Given the description of an element on the screen output the (x, y) to click on. 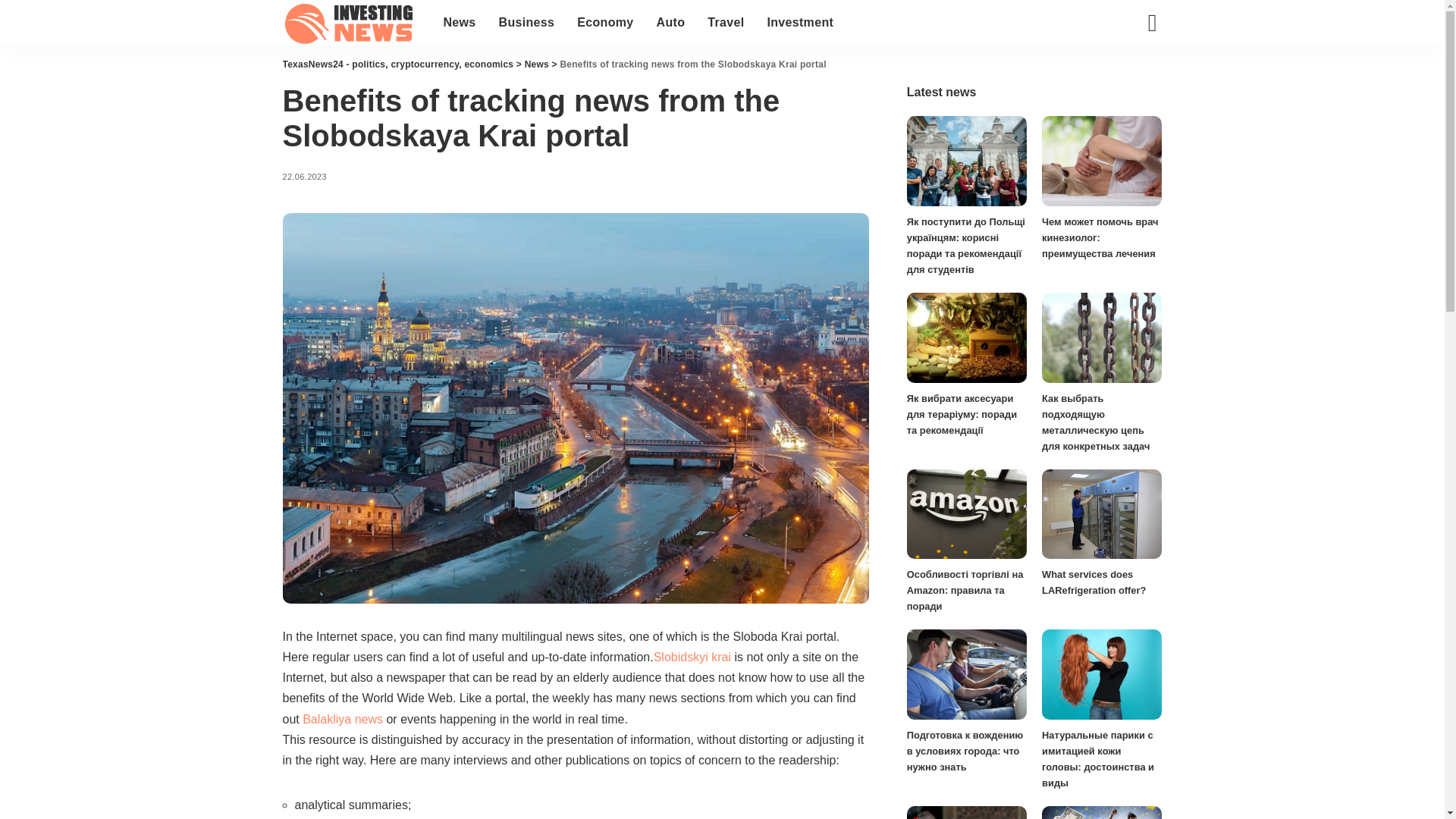
Go to TexasNews24 - politics, cryptocurrency, economics. (397, 63)
TexasNews24 - politics, cryptocurrency, economics (351, 22)
Economy (605, 22)
News (459, 22)
Investment (799, 22)
Balakliya news (342, 718)
Travel (725, 22)
Go to the News Category archives. (536, 63)
Slobidskyi krai (691, 656)
Search (1140, 20)
Search (1140, 65)
Auto (671, 22)
TexasNews24 - politics, cryptocurrency, economics (397, 63)
News (536, 63)
Business (526, 22)
